Given the description of an element on the screen output the (x, y) to click on. 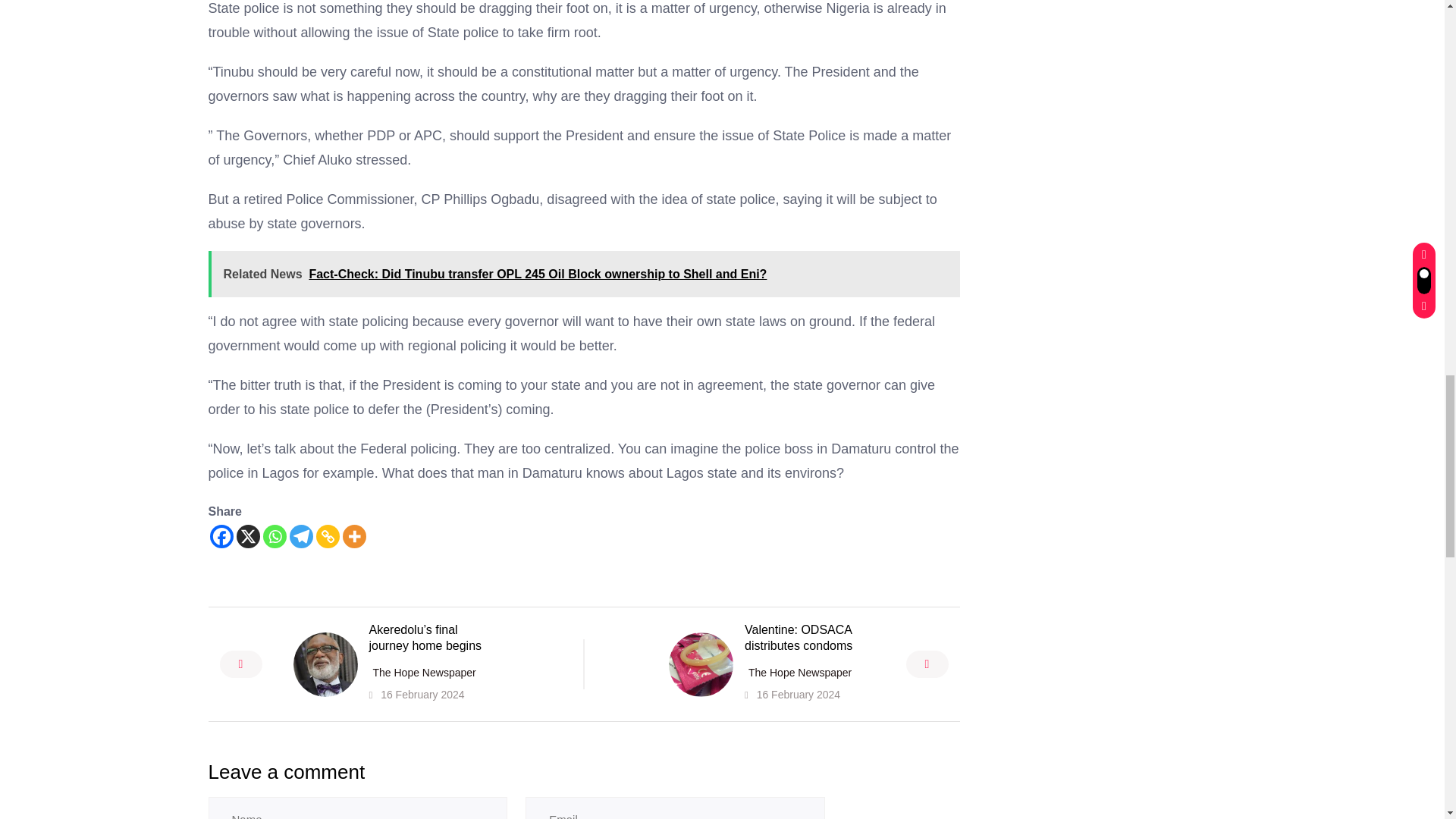
Telegram (301, 535)
Copy Link (327, 535)
Whatsapp (273, 535)
X (247, 535)
Facebook (220, 535)
More (354, 535)
